Given the description of an element on the screen output the (x, y) to click on. 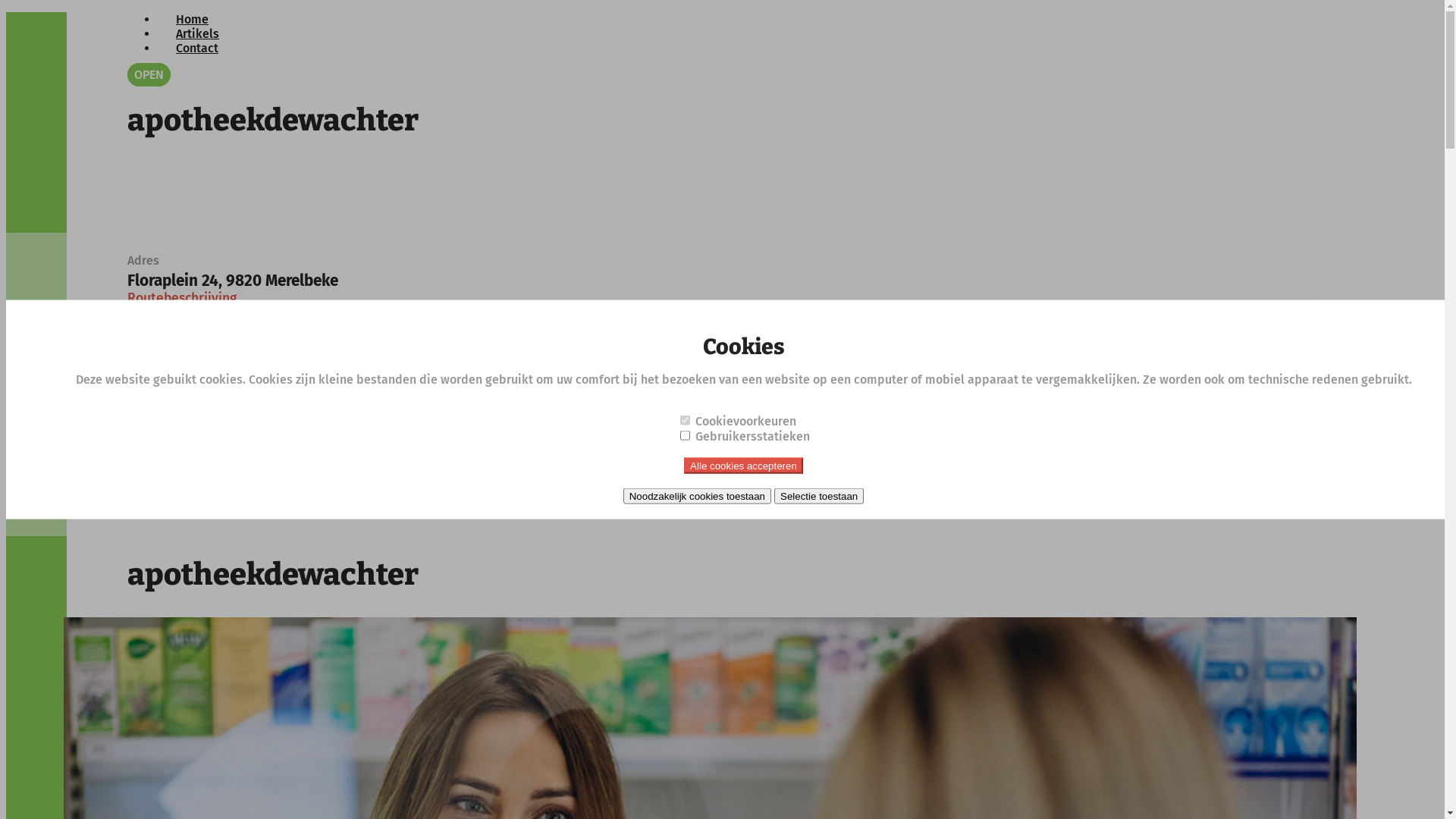
info@apotheekdewachter.be Element type: text (254, 417)
Artikels Element type: text (197, 33)
Contact Element type: text (196, 47)
Routebeschrijving Element type: text (181, 298)
Home Element type: text (191, 19)
Selectie toestaan Element type: text (818, 495)
Noodzakelijk cookies toestaan Element type: text (697, 495)
Maak een afspraak Element type: text (180, 477)
Alle cookies accepteren Element type: text (743, 465)
